Given the description of an element on the screen output the (x, y) to click on. 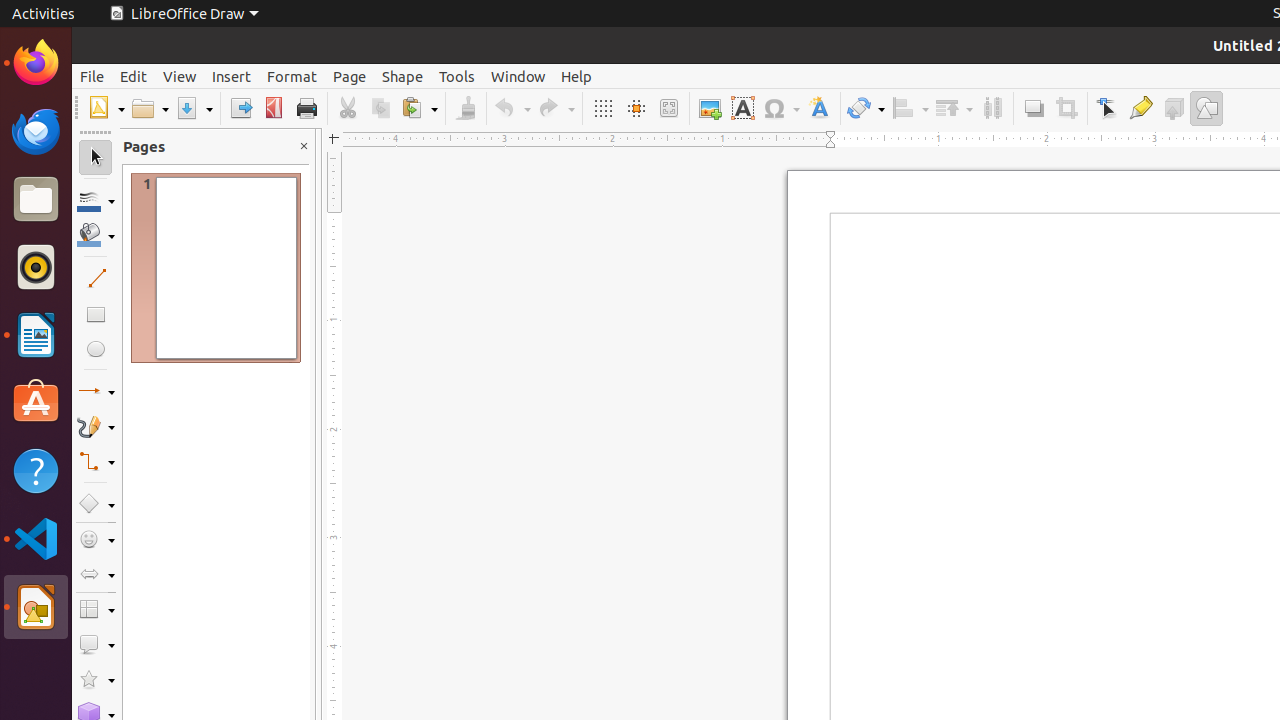
Open Element type: push-button (150, 108)
Close Pane Element type: push-button (303, 146)
Edit Points Element type: push-button (1107, 108)
Draw Functions Element type: toggle-button (1206, 108)
LibreOffice Writer Element type: push-button (36, 334)
